Given the description of an element on the screen output the (x, y) to click on. 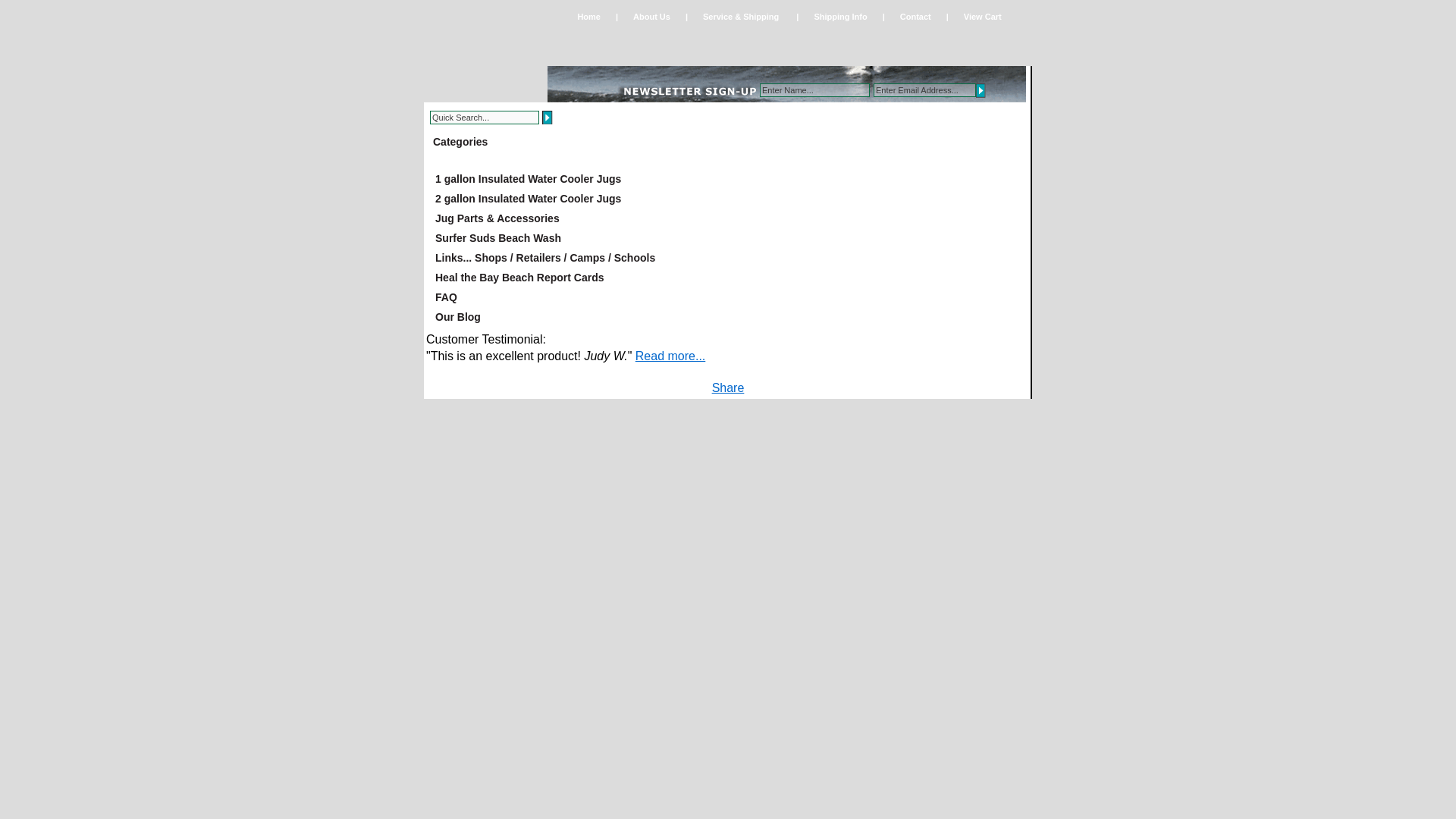
Enter Email Address... (924, 90)
Categories (460, 144)
Enter Name... (814, 90)
Surfer Suds Beach Wash (727, 238)
View Cart      (988, 16)
2 gallon Insulated Water Cooler Jugs (727, 198)
Heal the Bay Beach Report Cards (727, 277)
FAQ (727, 297)
About Us (651, 16)
Share (727, 387)
